Given the description of an element on the screen output the (x, y) to click on. 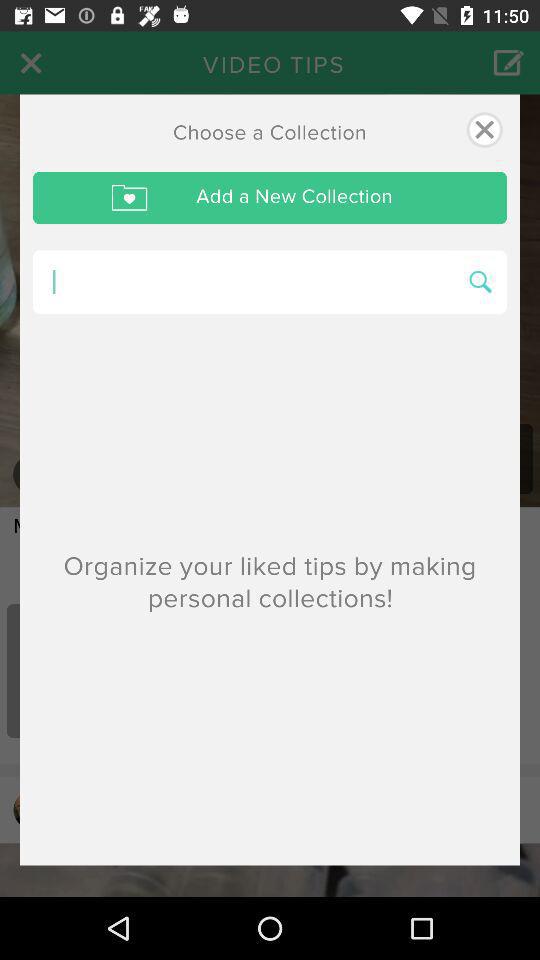
search for what we want (243, 281)
